Given the description of an element on the screen output the (x, y) to click on. 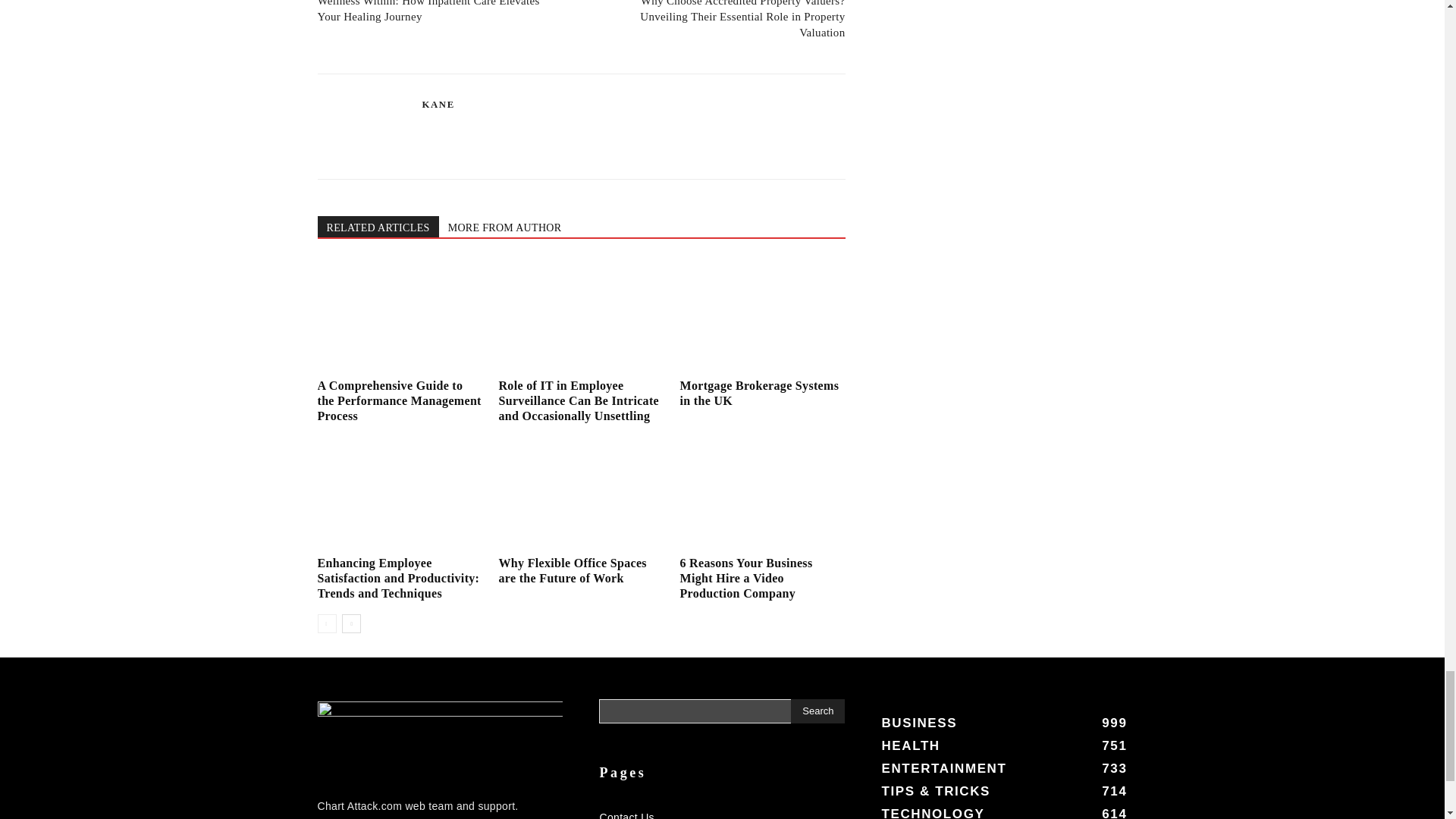
Search (817, 711)
A Comprehensive Guide to the Performance Management Process (399, 316)
Mortgage Brokerage Systems in the UK (761, 316)
A Comprehensive Guide to the Performance Management Process (398, 400)
